Given the description of an element on the screen output the (x, y) to click on. 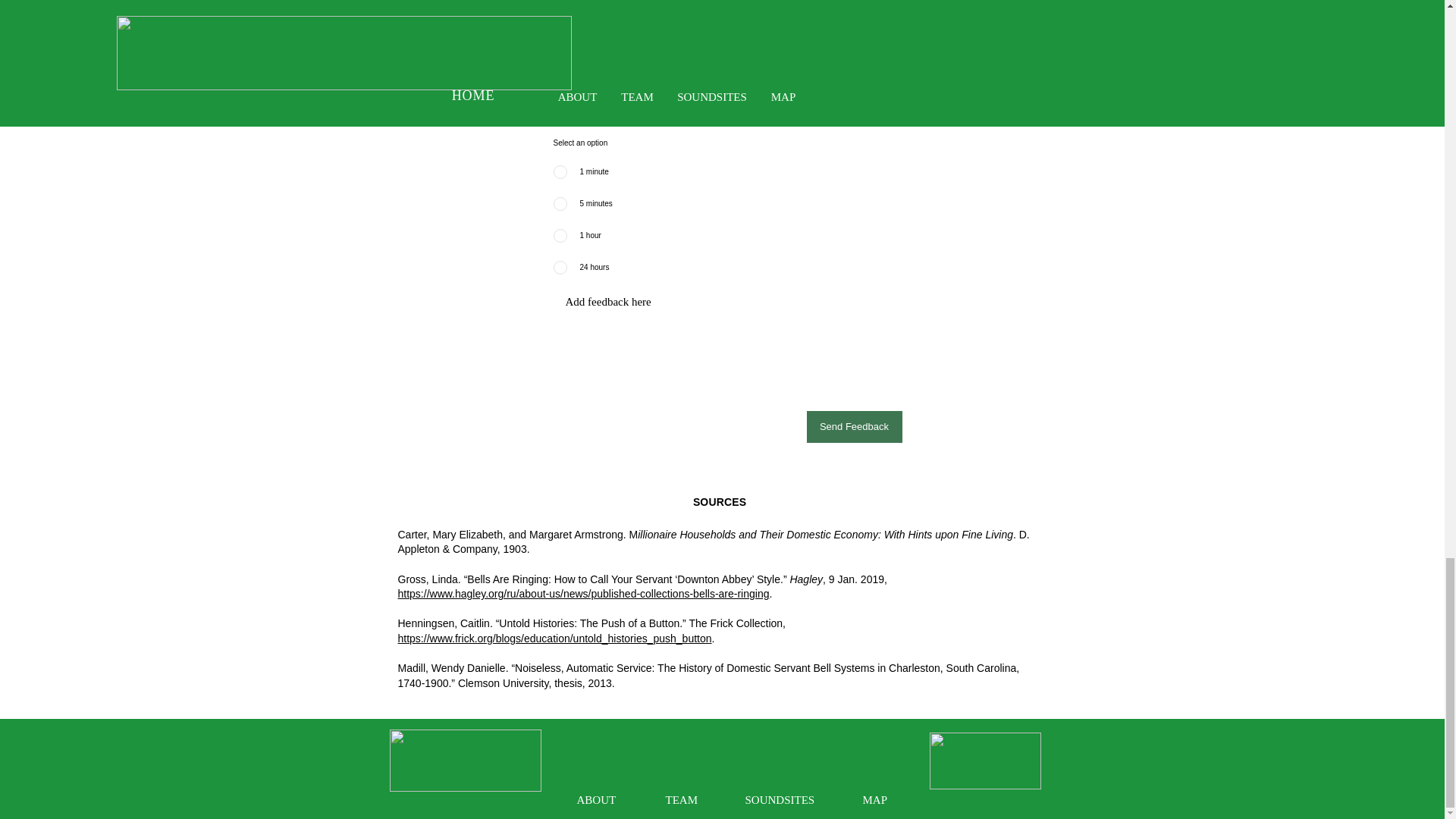
Send Feedback (854, 427)
soundwalk at frick logos stripe.jpg (465, 760)
soundwalk at frick logos stripe.jpg (985, 760)
